Given the description of an element on the screen output the (x, y) to click on. 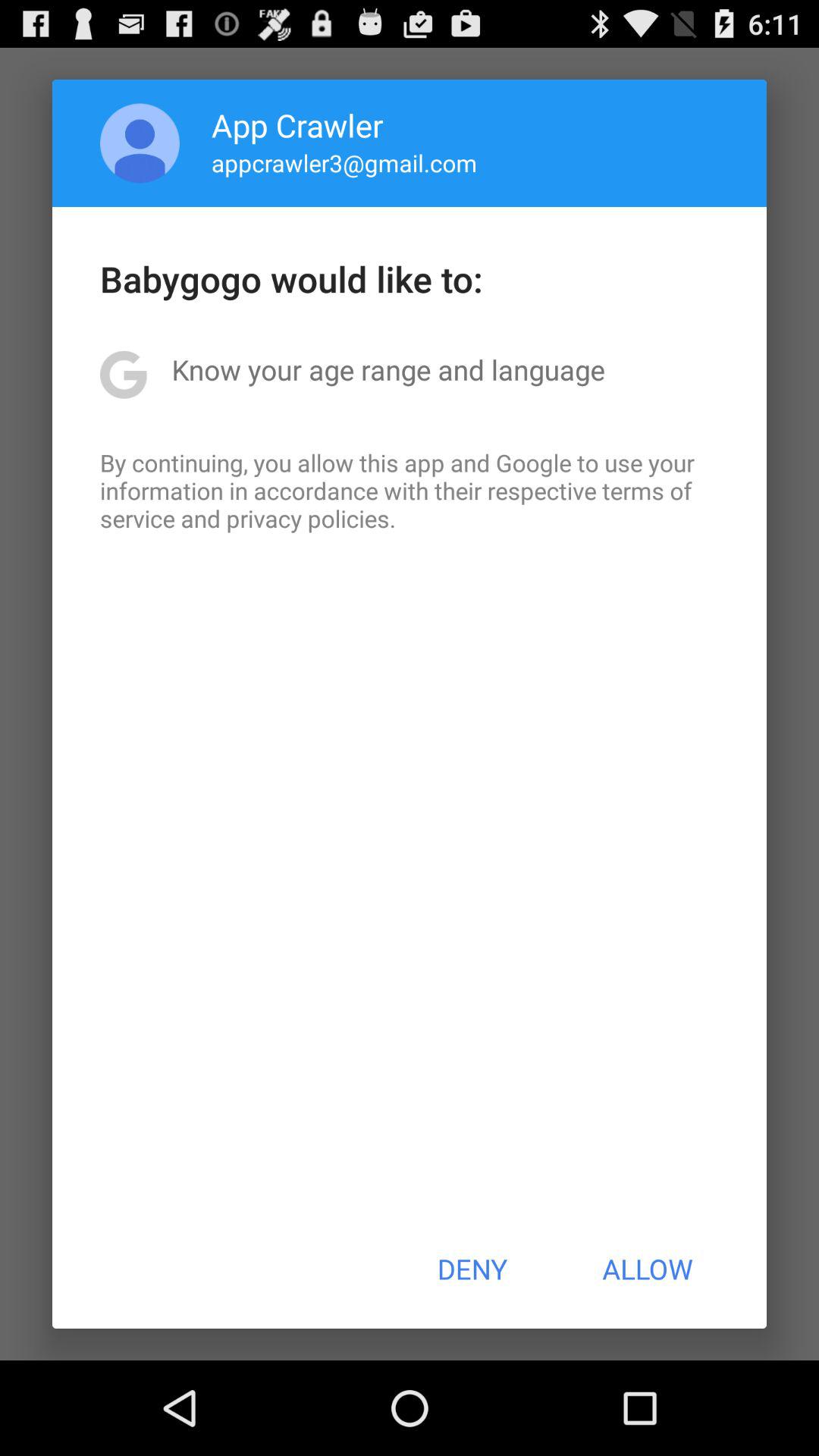
launch the button next to allow item (471, 1268)
